Given the description of an element on the screen output the (x, y) to click on. 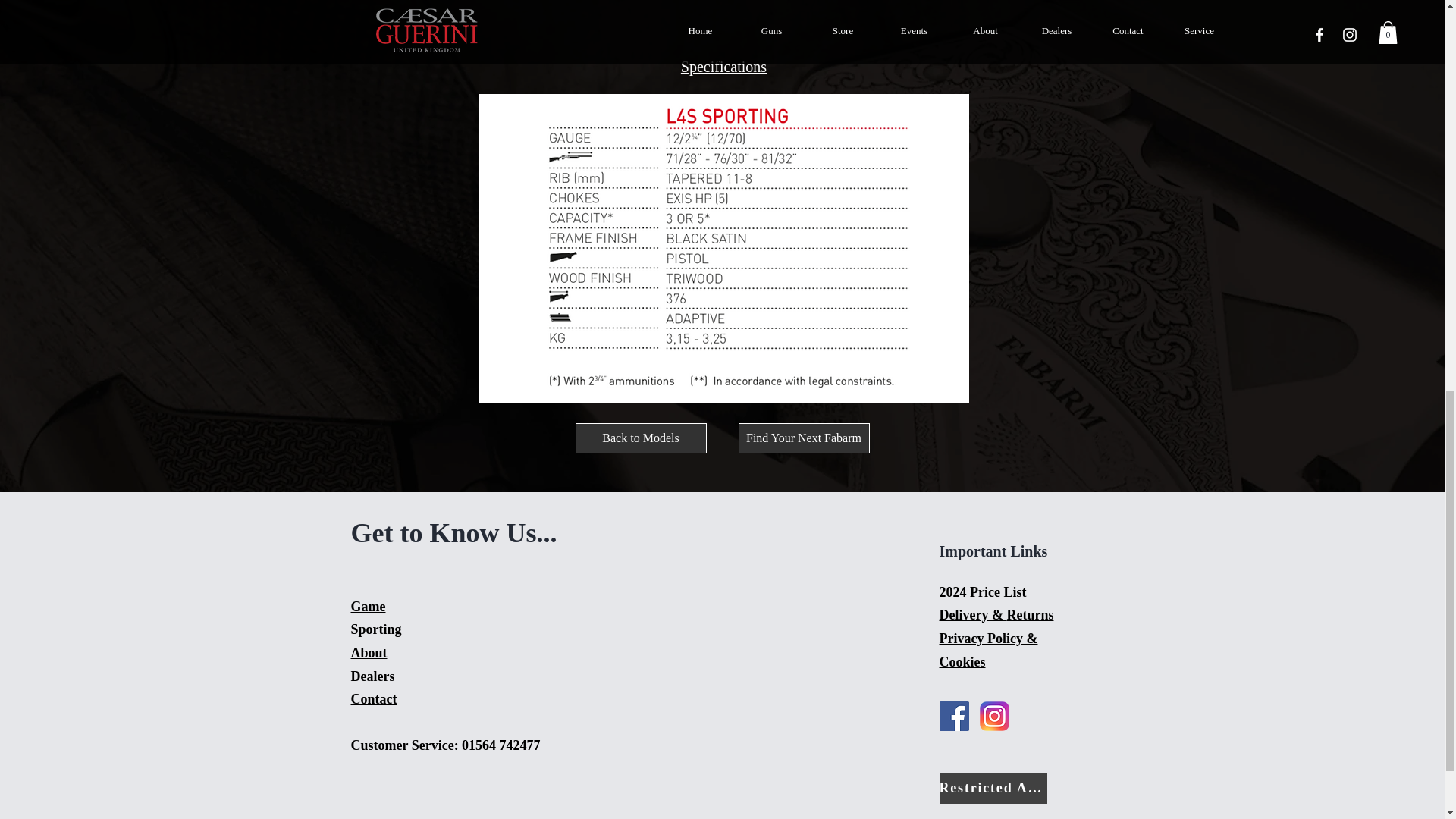
Find Your Next Fabarm (803, 438)
Sporting (375, 629)
Back to Models (640, 438)
Restricted Area (992, 788)
Dealers (372, 676)
Game (367, 606)
2024 Price List (982, 591)
Contact (373, 698)
About (368, 652)
